Given the description of an element on the screen output the (x, y) to click on. 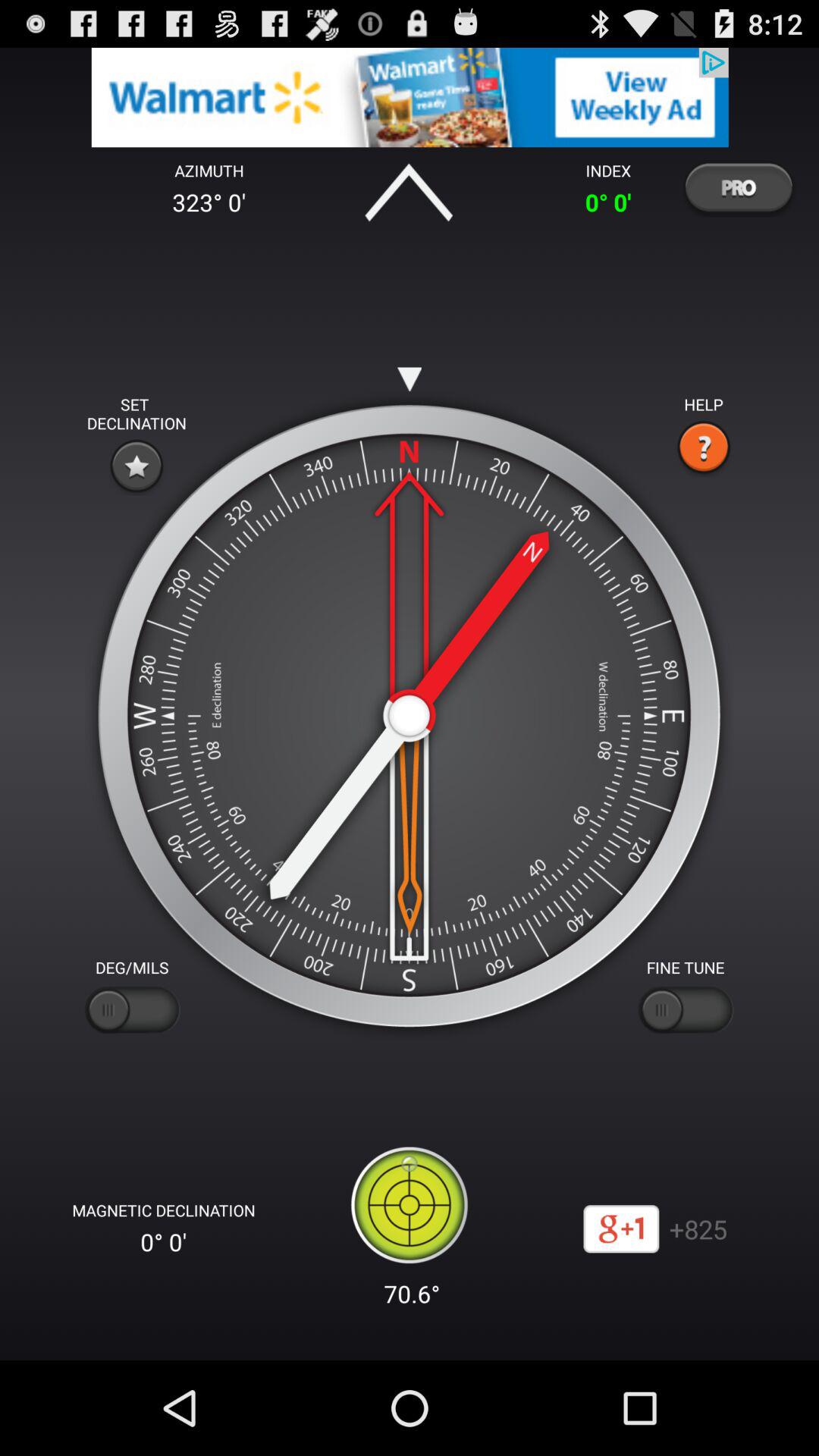
set declination option (136, 465)
